Given the description of an element on the screen output the (x, y) to click on. 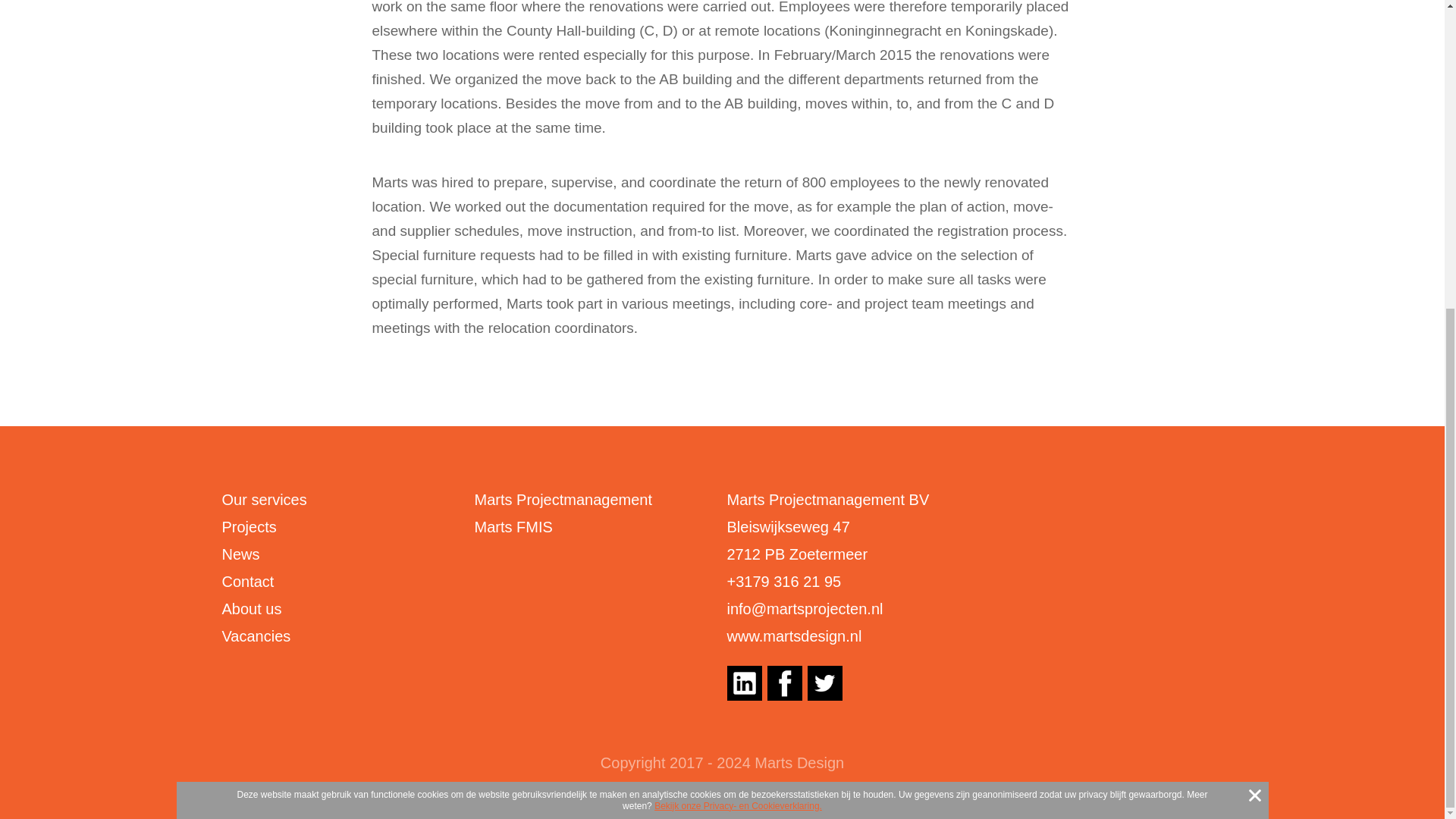
Projects (248, 526)
Our services (263, 499)
News (240, 554)
Bekijk onze Privacy- en Cookieverklaring. (737, 317)
Vacancies (255, 636)
Contact (247, 581)
Twitter (823, 683)
Linkedin (743, 683)
About us (251, 608)
www.martsdesign.nl (793, 636)
Facebook (784, 683)
Marts FMIS (513, 526)
Marts Projectmanagement (563, 499)
